Given the description of an element on the screen output the (x, y) to click on. 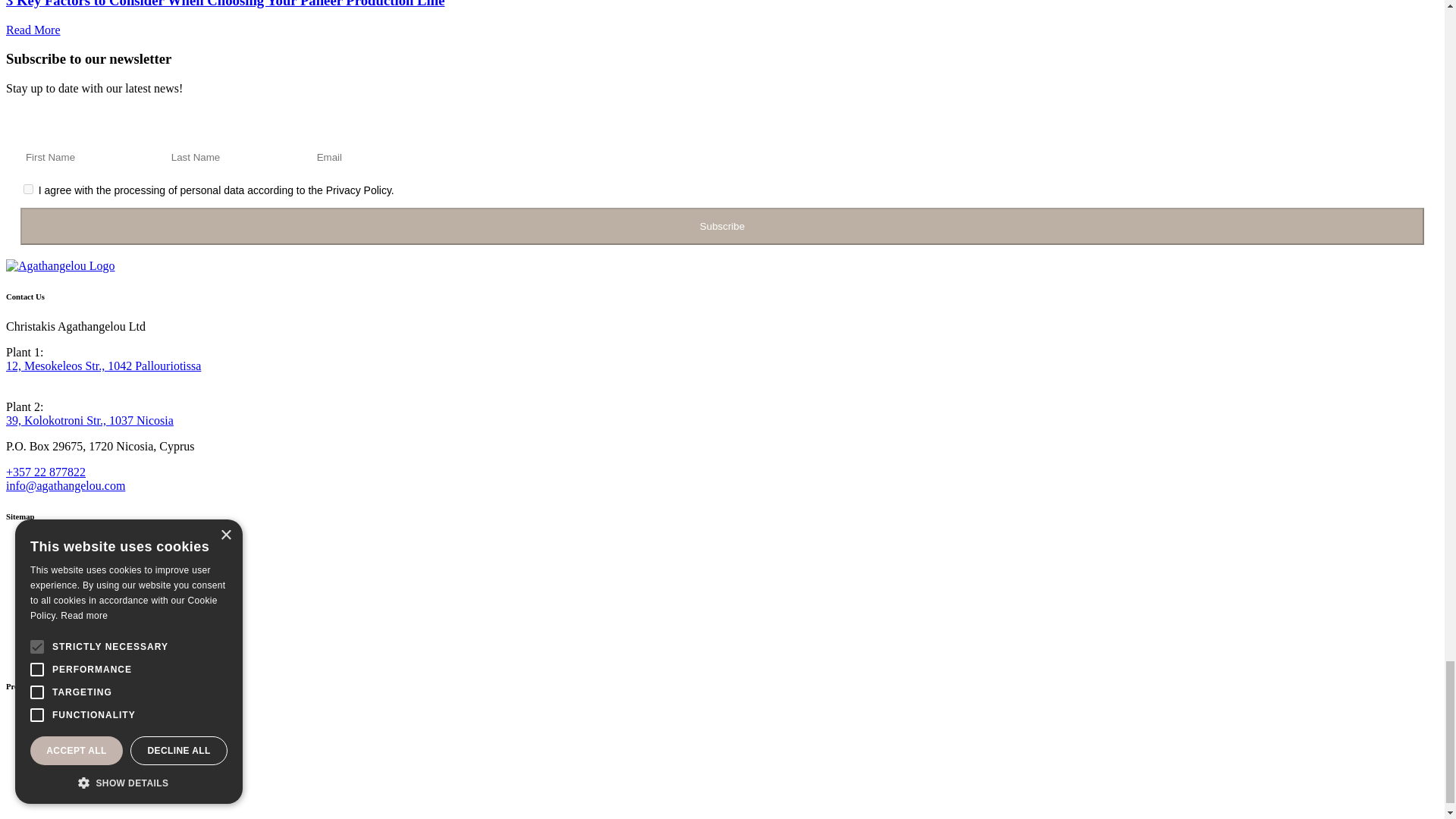
on (28, 189)
Subscribe (721, 226)
